Given the description of an element on the screen output the (x, y) to click on. 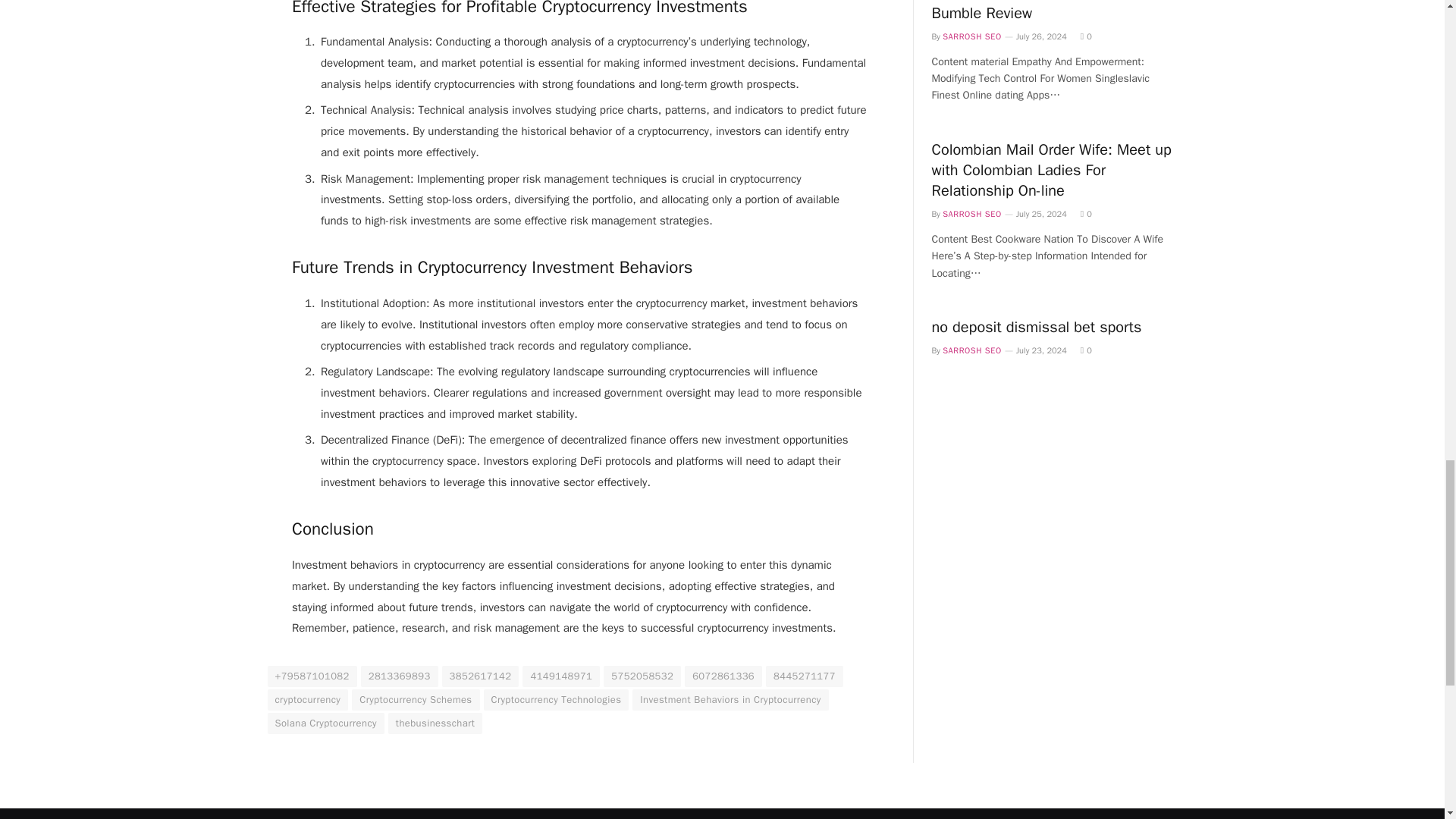
Cryptocurrency Schemes (415, 699)
2813369893 (399, 676)
3852617142 (480, 676)
5752058532 (642, 676)
6072861336 (722, 676)
cryptocurrency (306, 699)
8445271177 (804, 676)
4149148971 (560, 676)
Cryptocurrency Technologies (555, 699)
